Given the description of an element on the screen output the (x, y) to click on. 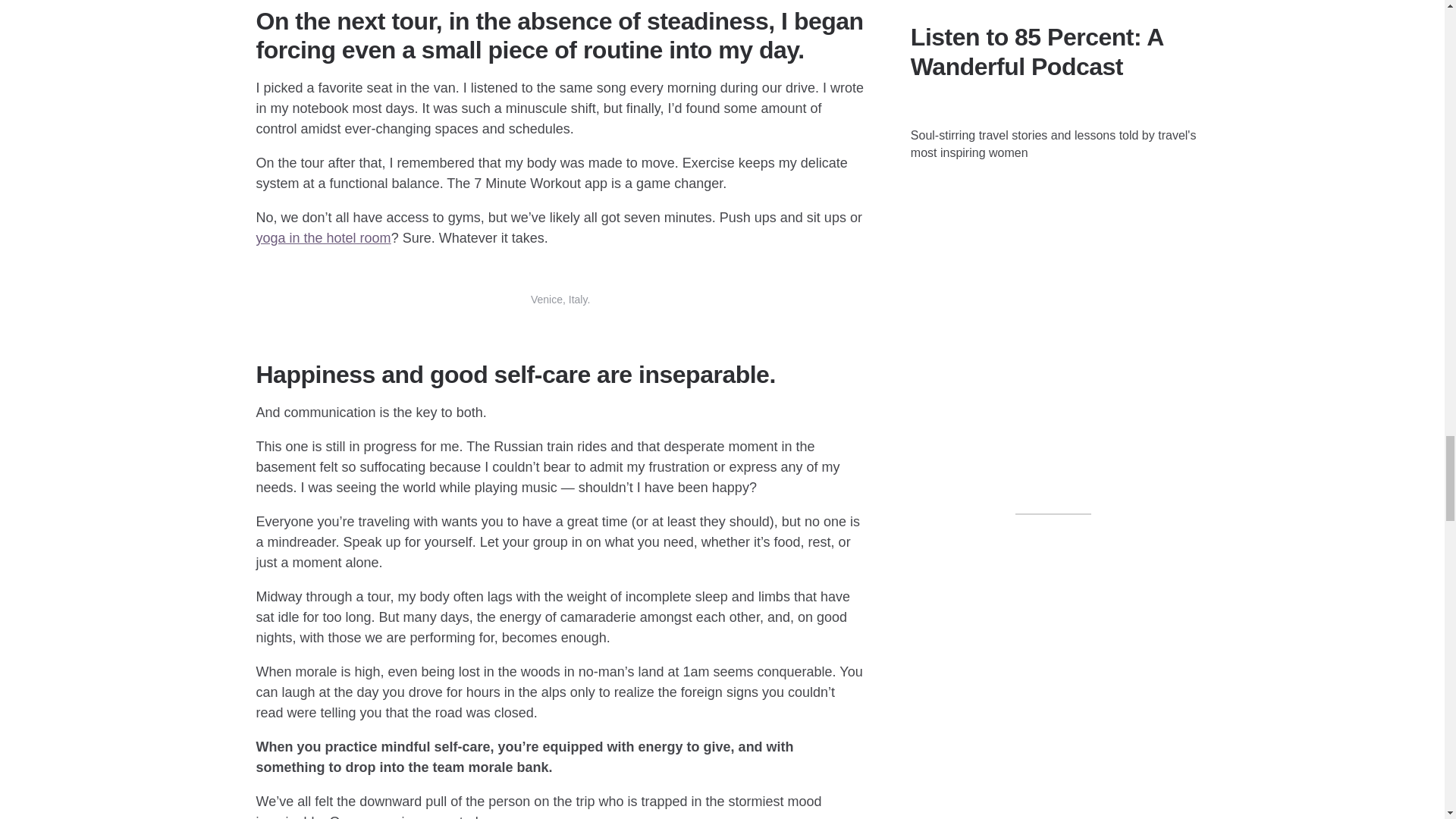
yoga in the hotel room (323, 237)
